Given the description of an element on the screen output the (x, y) to click on. 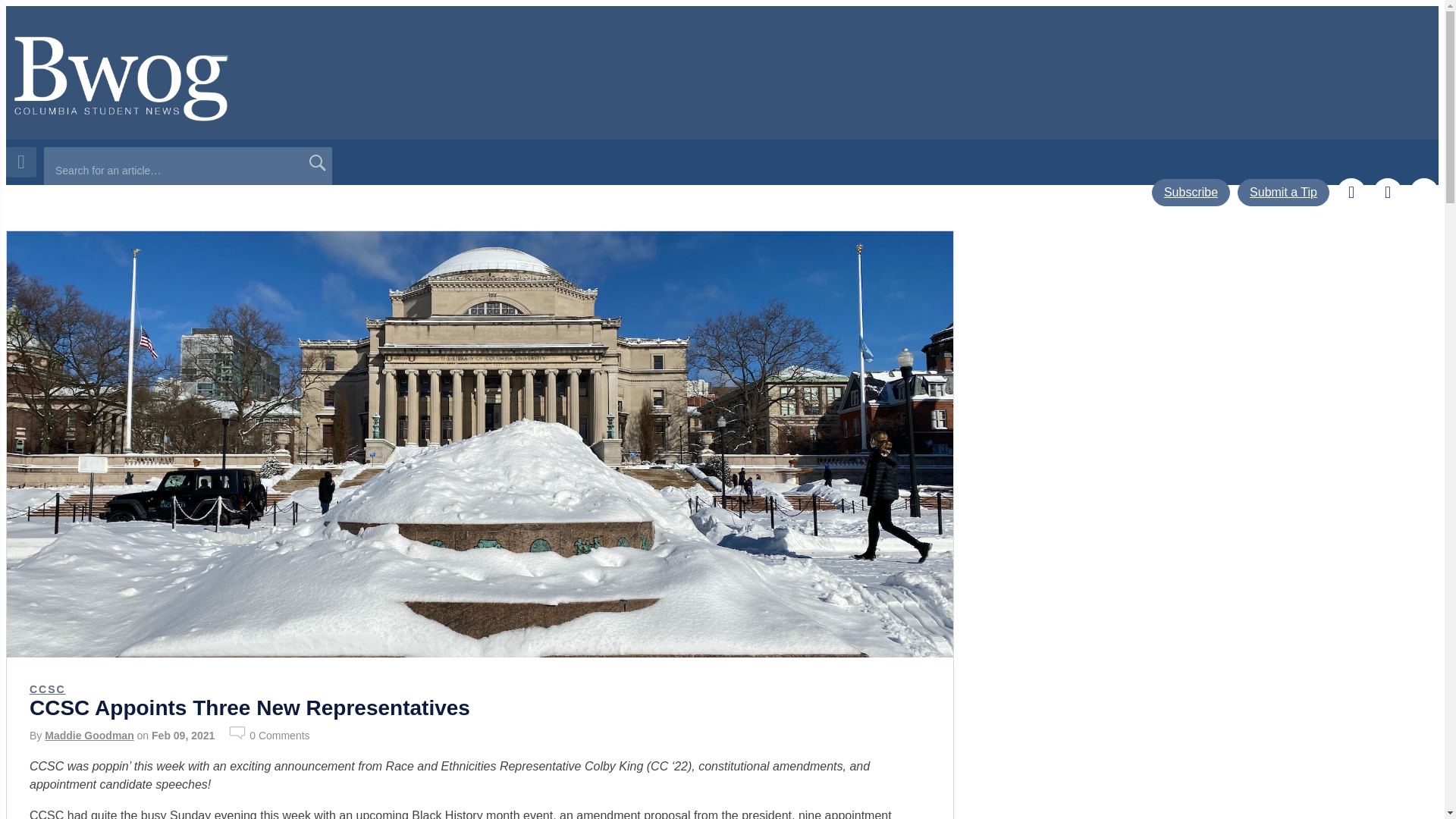
Subscribe (1190, 192)
Search (316, 162)
Search (316, 162)
Submit a Tip (1283, 192)
